Given the description of an element on the screen output the (x, y) to click on. 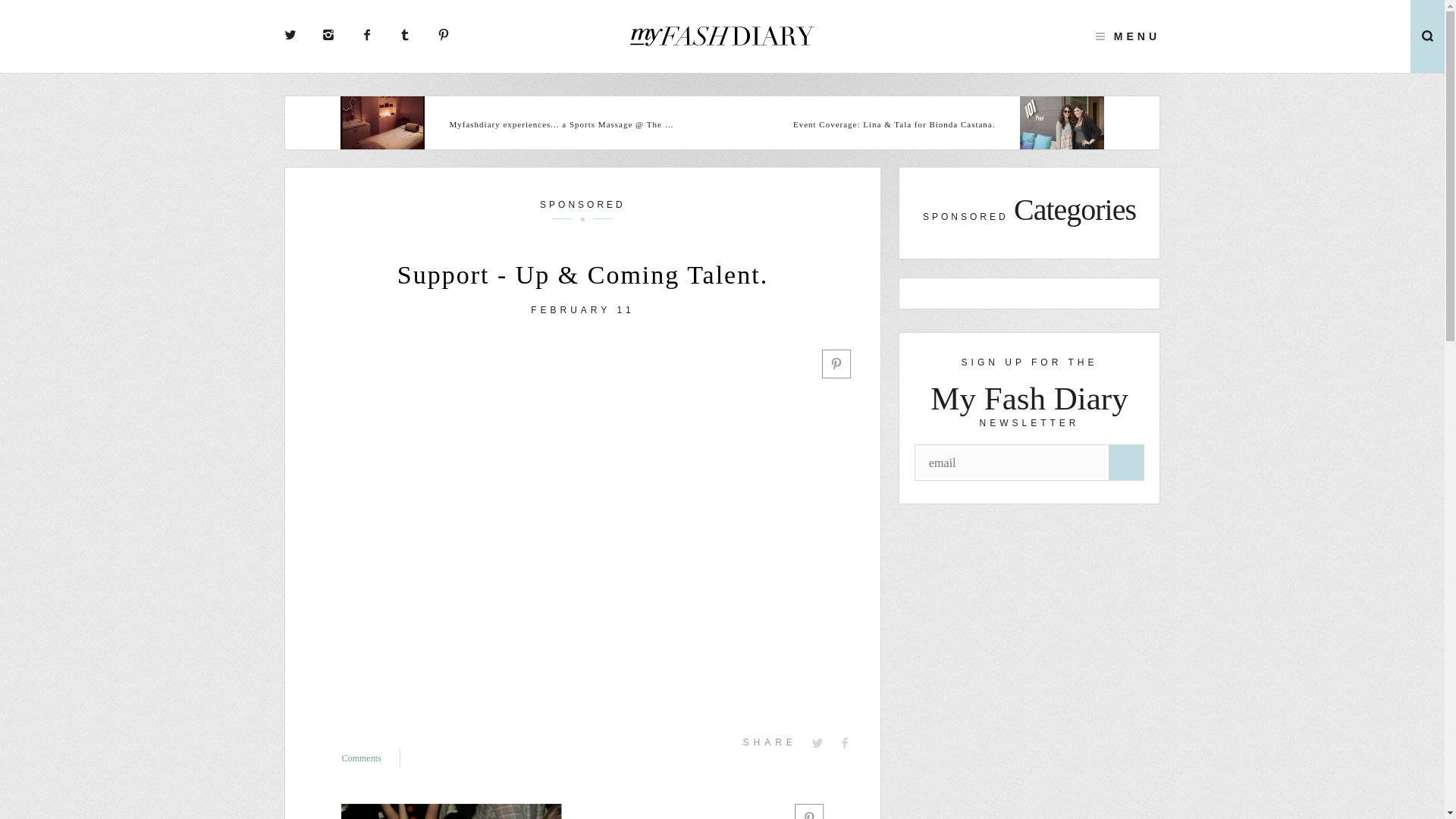
Comments (371, 758)
fitflop (583, 811)
SPONSORED (583, 209)
